Given the description of an element on the screen output the (x, y) to click on. 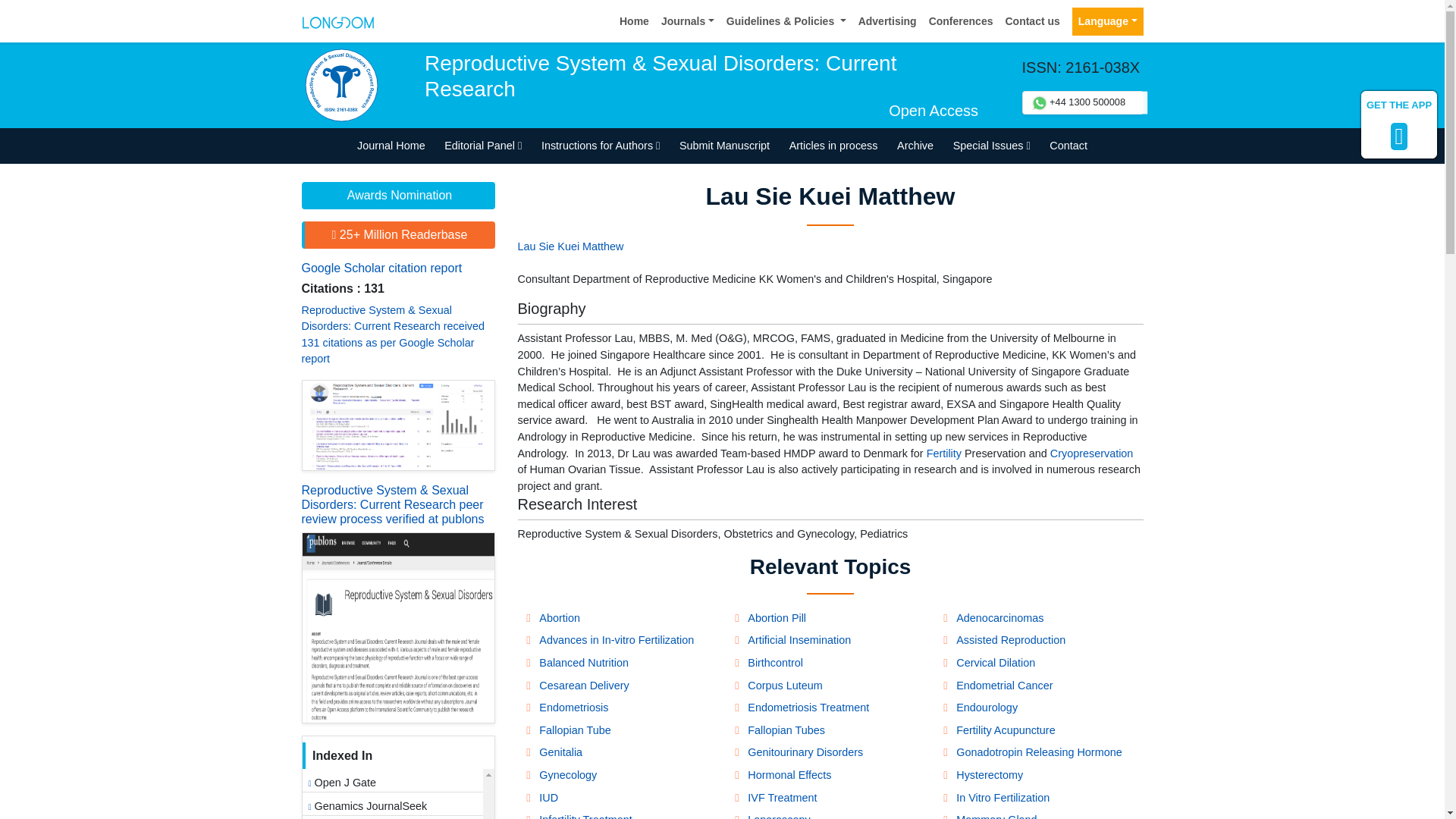
Conferences (960, 21)
Home (633, 21)
Advertising (887, 21)
Journals (687, 21)
Instructions for Authors (600, 145)
Conferences (960, 21)
Journal Home (390, 145)
Home (633, 21)
Contact us (1031, 21)
Language (1106, 21)
Archive (914, 145)
Editorial Panel (482, 145)
Submit Manuscript (723, 145)
Advertising (887, 21)
Contact us (1031, 21)
